Given the description of an element on the screen output the (x, y) to click on. 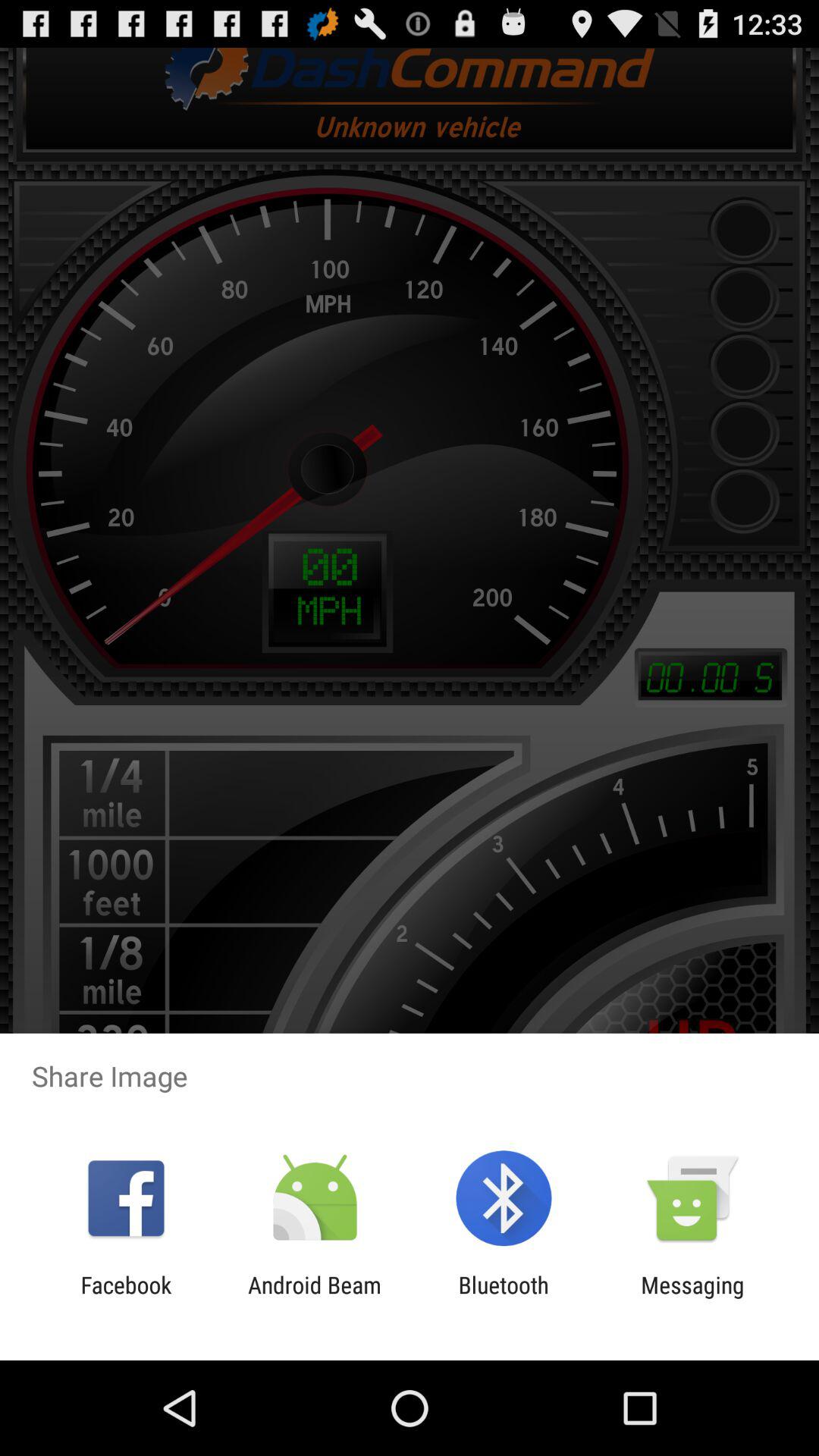
click the item next to bluetooth app (314, 1298)
